Given the description of an element on the screen output the (x, y) to click on. 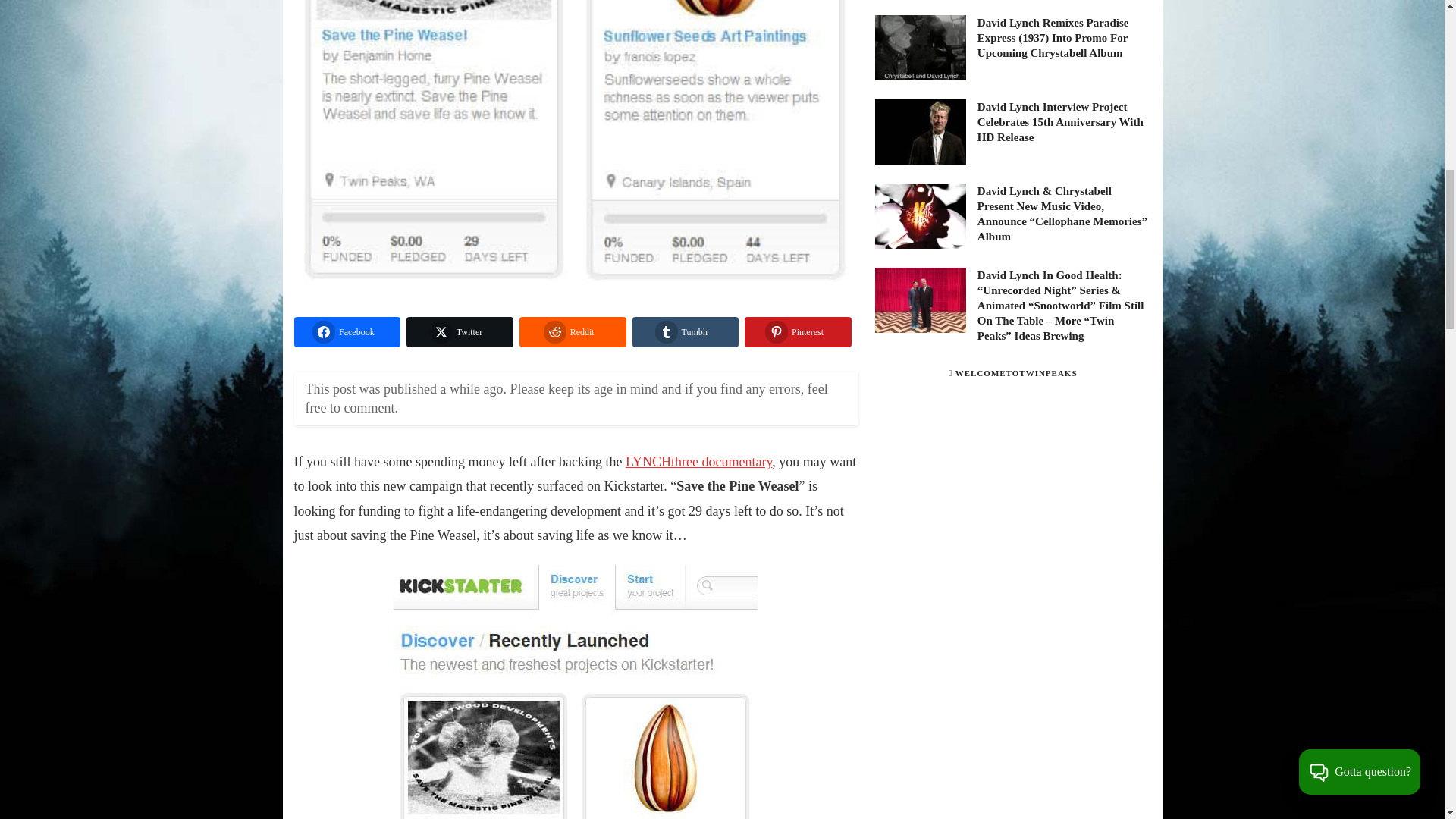
Pinterest (797, 331)
Share on Facebook (347, 331)
Facebook (347, 331)
Share on Twitter (459, 331)
Tumblr (685, 331)
Reddit (572, 331)
LYNCHthree documentary (698, 461)
Twitter (459, 331)
